Given the description of an element on the screen output the (x, y) to click on. 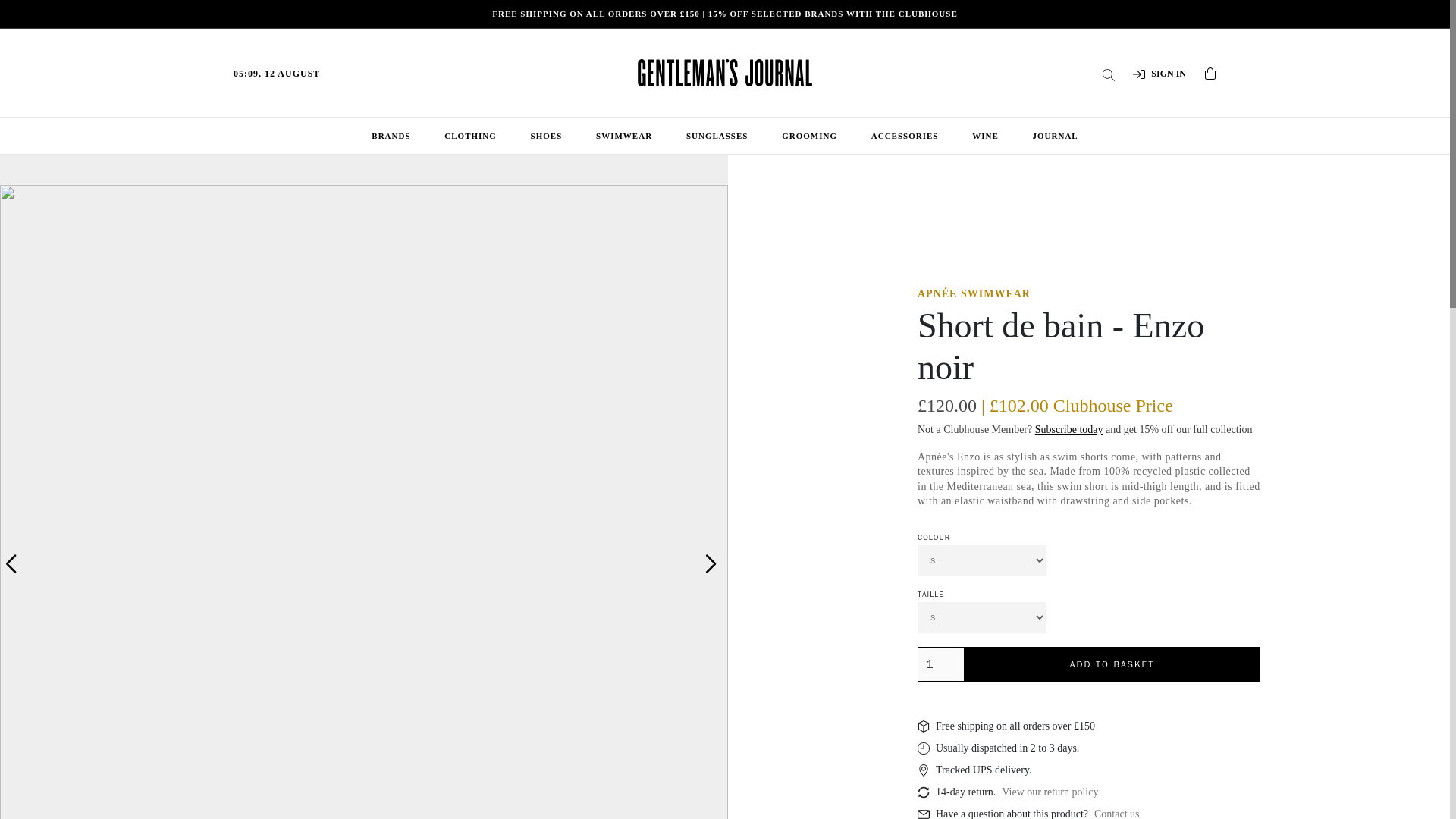
CLOTHING (470, 135)
1 (940, 664)
SIGN IN (1159, 72)
BRANDS (390, 135)
